Given the description of an element on the screen output the (x, y) to click on. 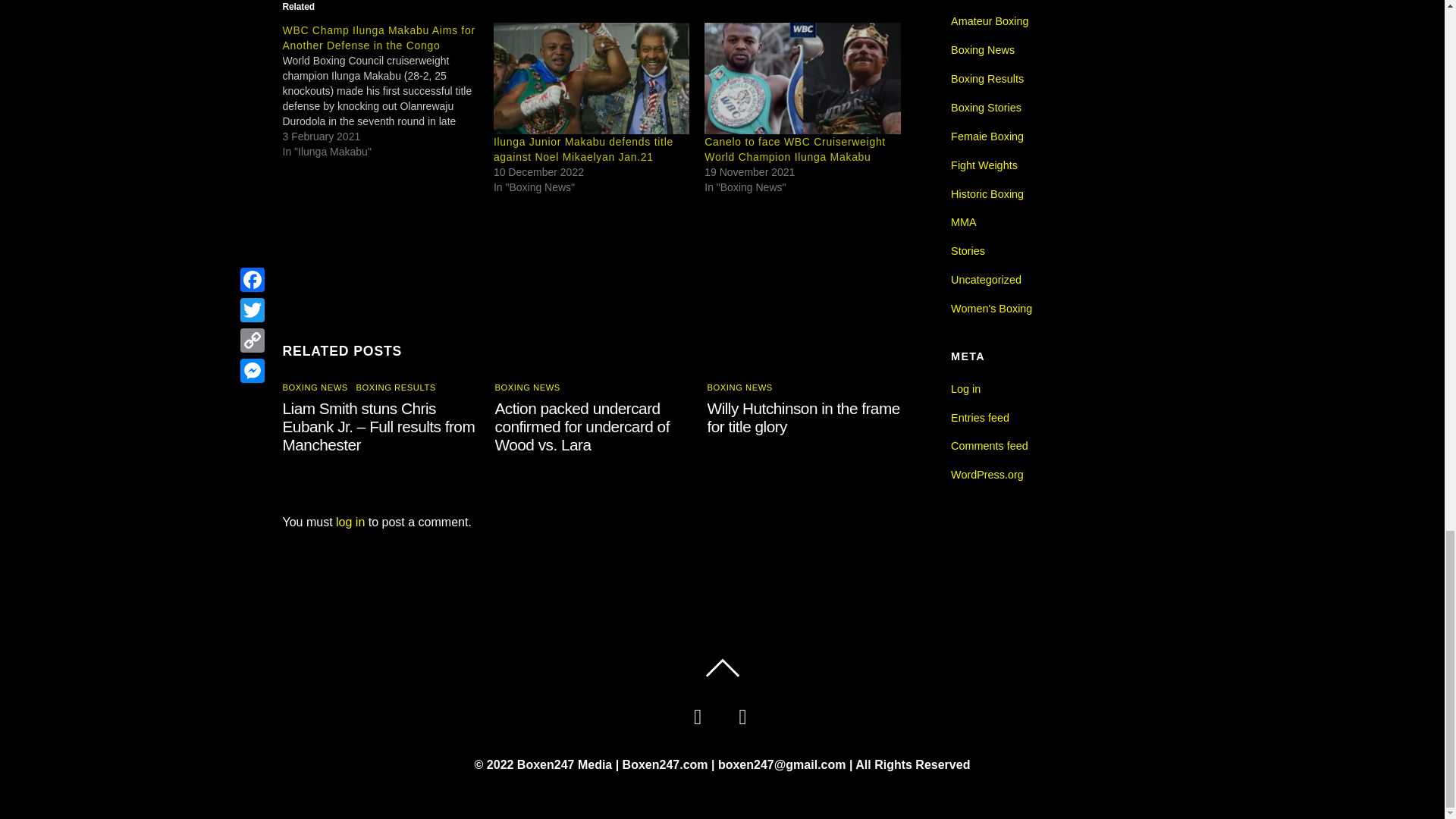
Willy Hutchinson in the frame for title glory (803, 416)
